Given the description of an element on the screen output the (x, y) to click on. 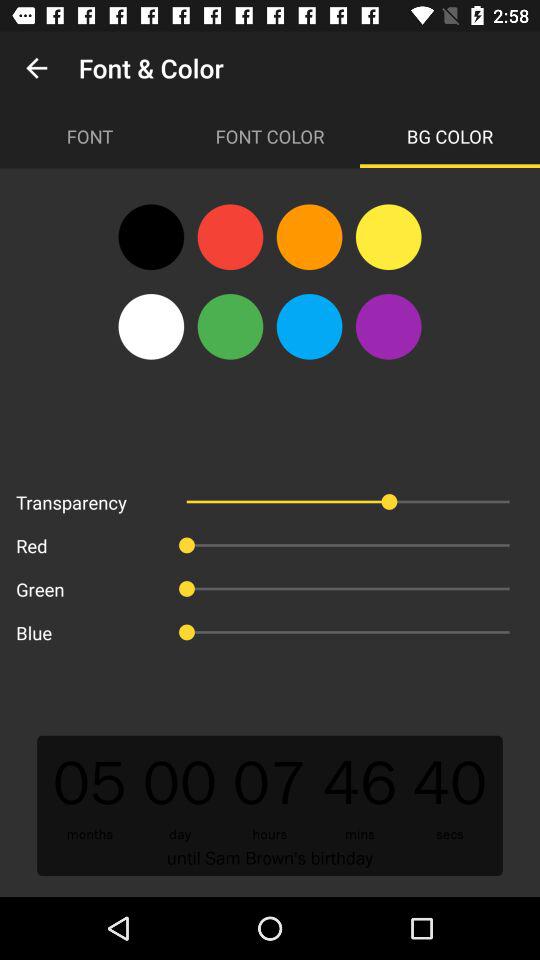
press the icon below font color item (388, 237)
